Given the description of an element on the screen output the (x, y) to click on. 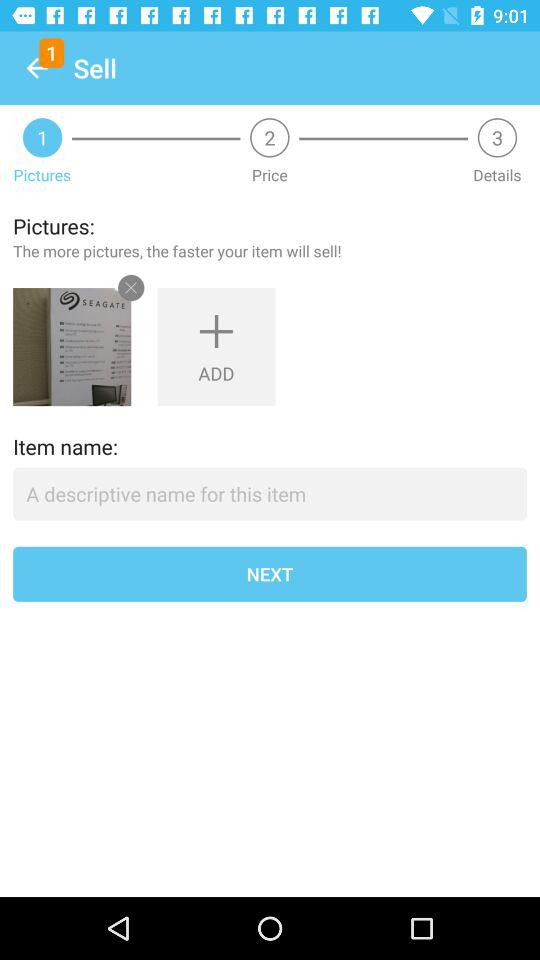
press the next item (269, 573)
